Given the description of an element on the screen output the (x, y) to click on. 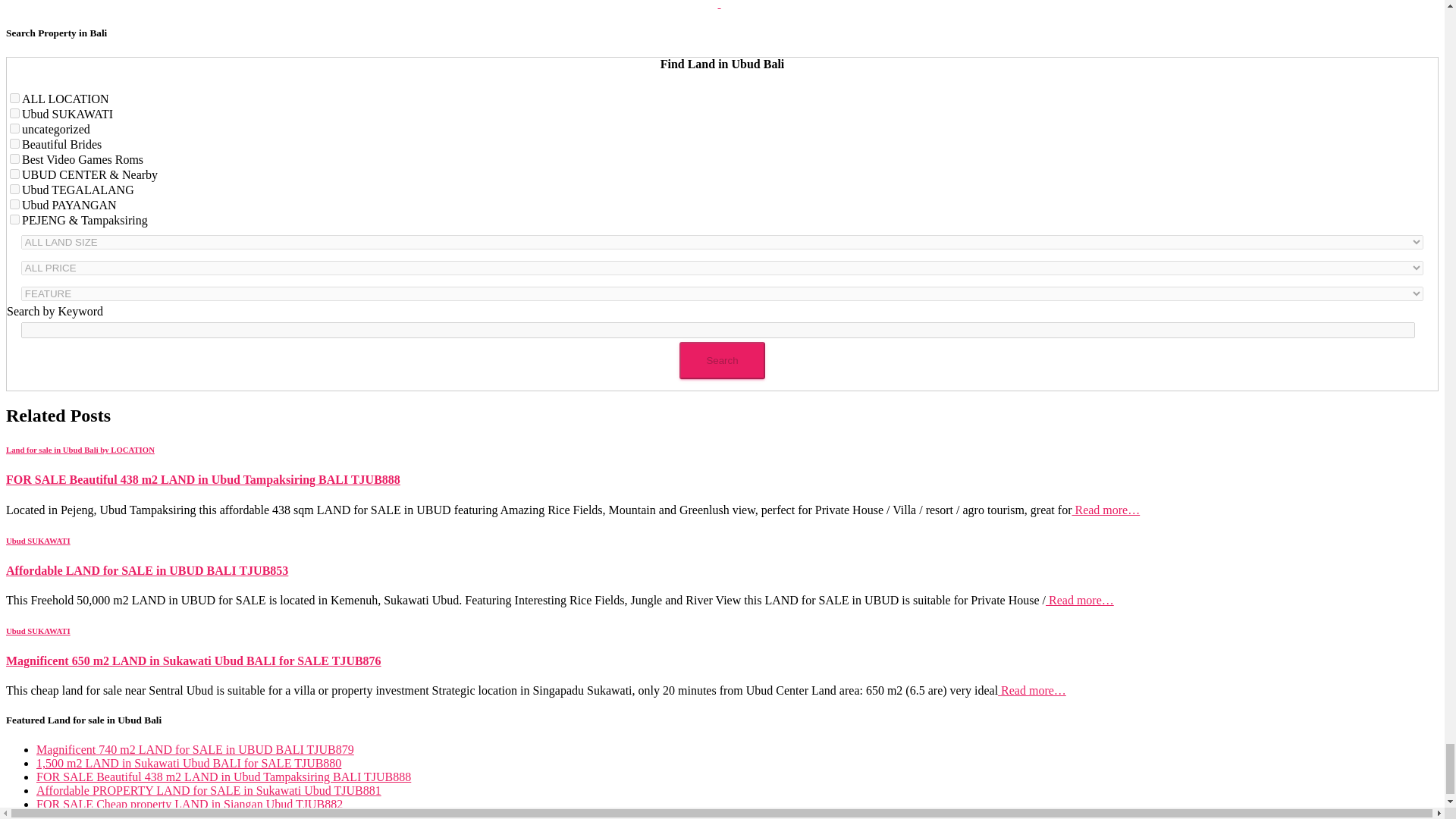
best-video-games-roms (15, 158)
1 (15, 98)
ubud-sukawati (15, 112)
uncategorized (15, 128)
land-for-sale-in-ubud-center-nearby (15, 173)
land-in-ubud-for-sale-in-pejeng-bali (15, 219)
beautiful-brides (15, 143)
land-for-sale-in-ubud-payangan-bali (15, 204)
land-for-sale-in-ubud-tegalalang-bali (15, 189)
Search (721, 360)
